Given the description of an element on the screen output the (x, y) to click on. 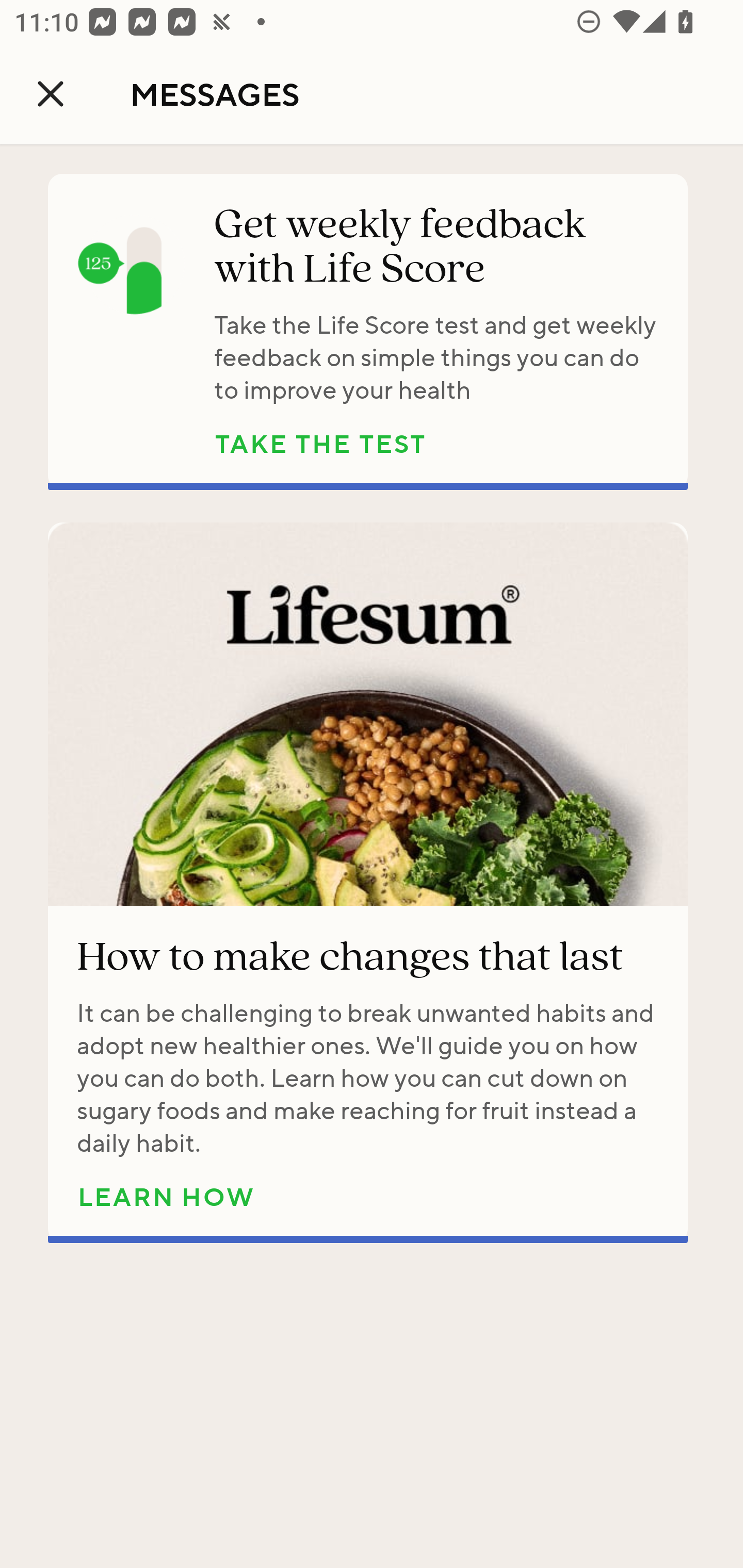
Navigate up (50, 93)
